Given the description of an element on the screen output the (x, y) to click on. 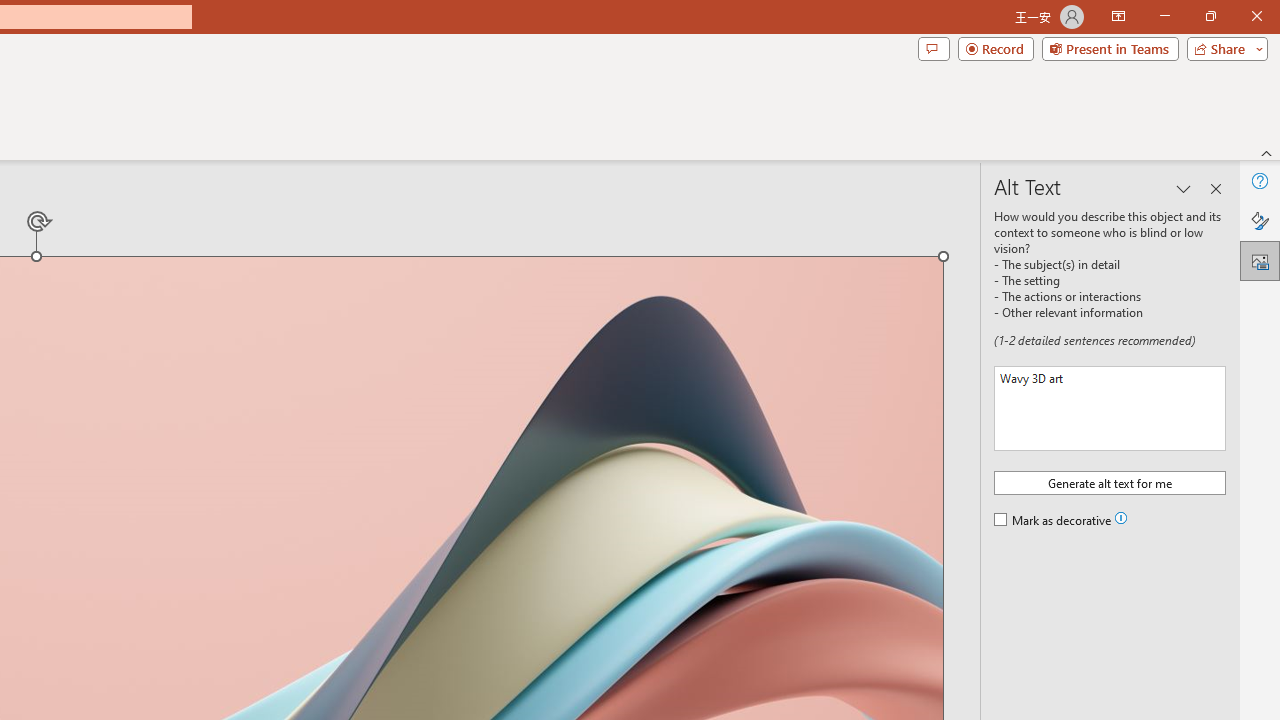
Generate alt text for me (1110, 482)
